Given the description of an element on the screen output the (x, y) to click on. 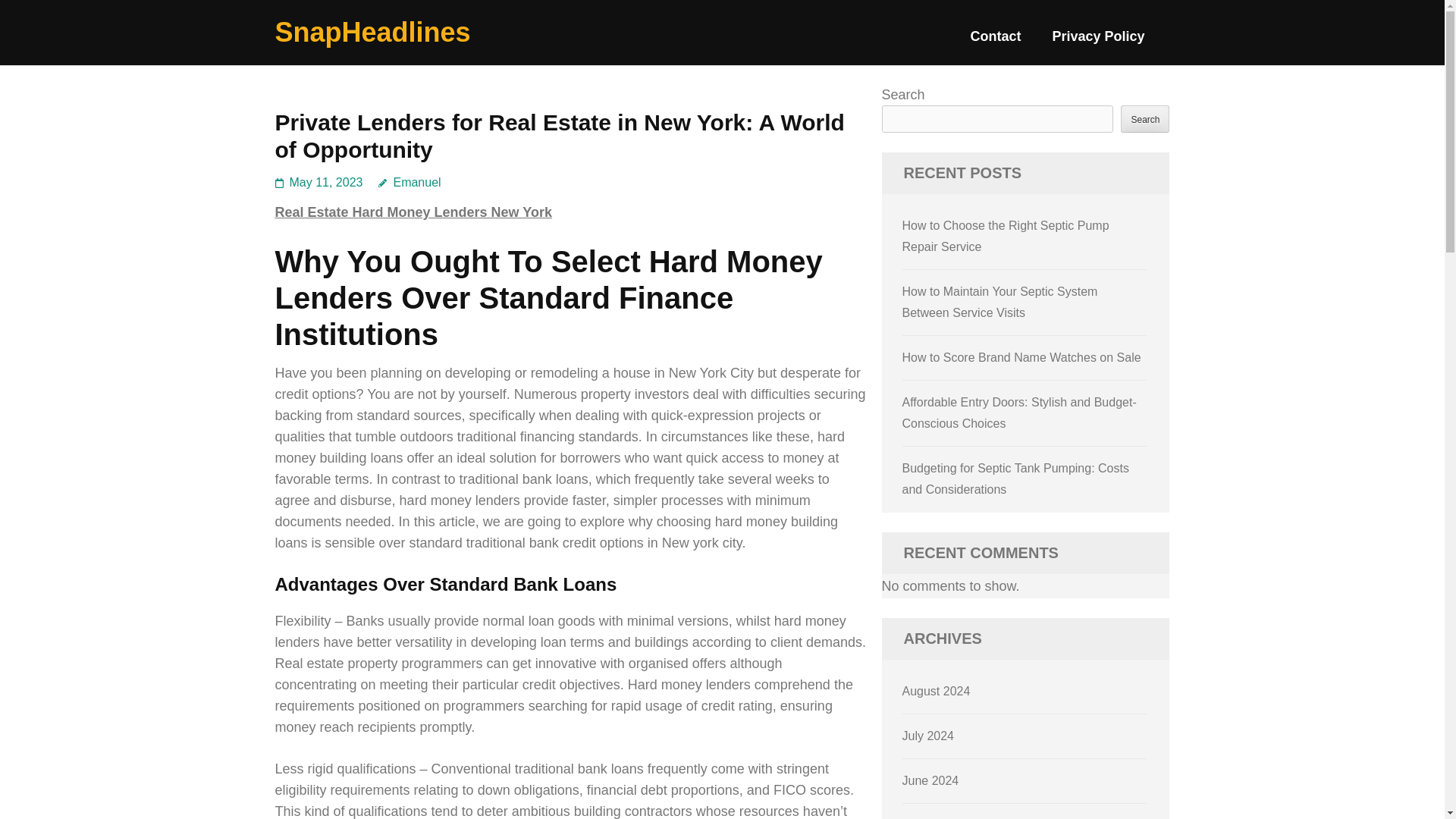
Budgeting for Septic Tank Pumping: Costs and Considerations (1015, 478)
Affordable Entry Doors: Stylish and Budget-Conscious Choices (1019, 412)
How to Score Brand Name Watches on Sale (1021, 357)
How to Maintain Your Septic System Between Service Visits (999, 302)
Contact (994, 42)
June 2024 (930, 780)
Emanuel (409, 182)
Search (1145, 118)
July 2024 (928, 735)
Real Estate Hard Money Lenders New York (413, 212)
